Given the description of an element on the screen output the (x, y) to click on. 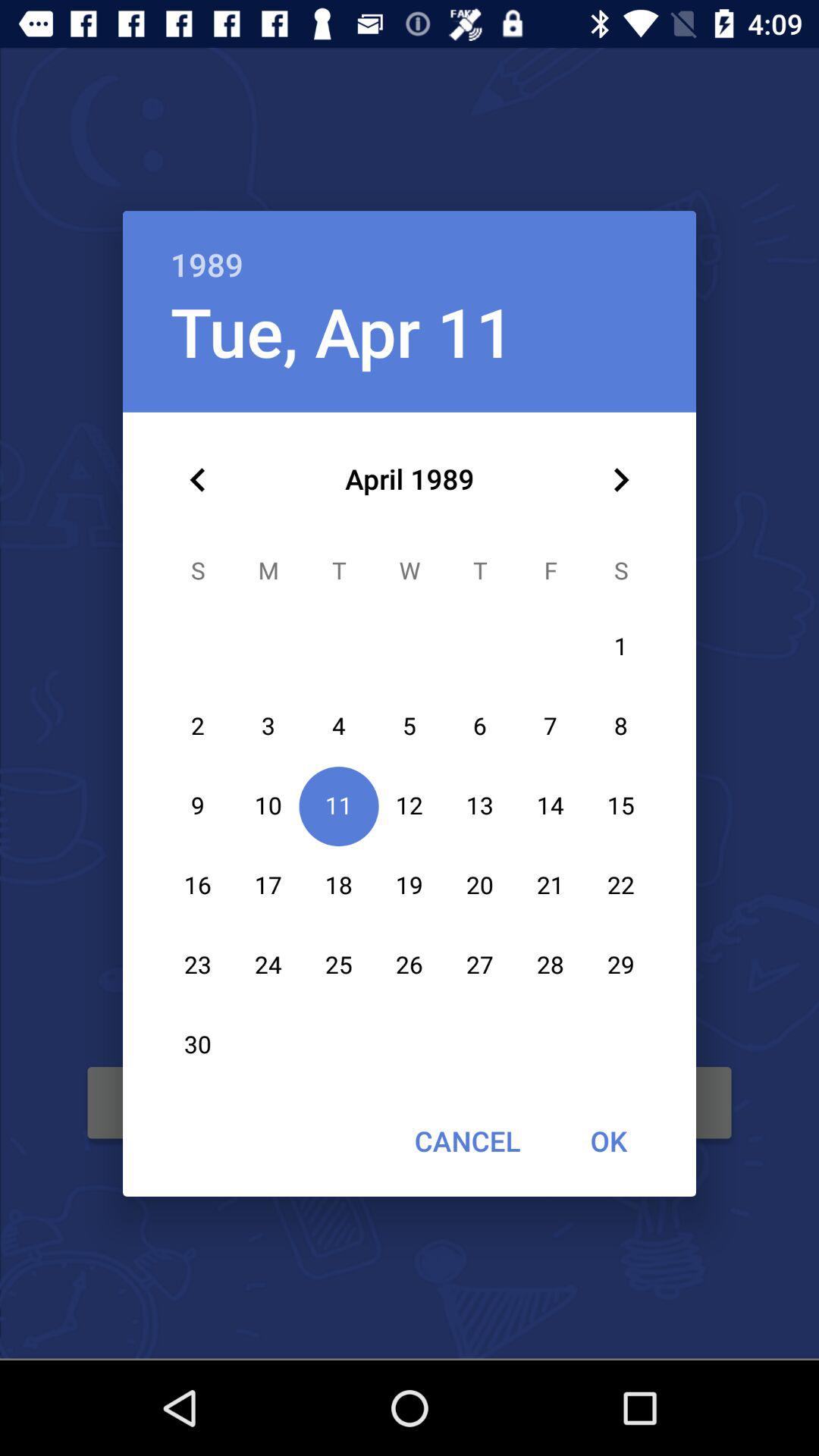
press the icon at the bottom (467, 1140)
